Given the description of an element on the screen output the (x, y) to click on. 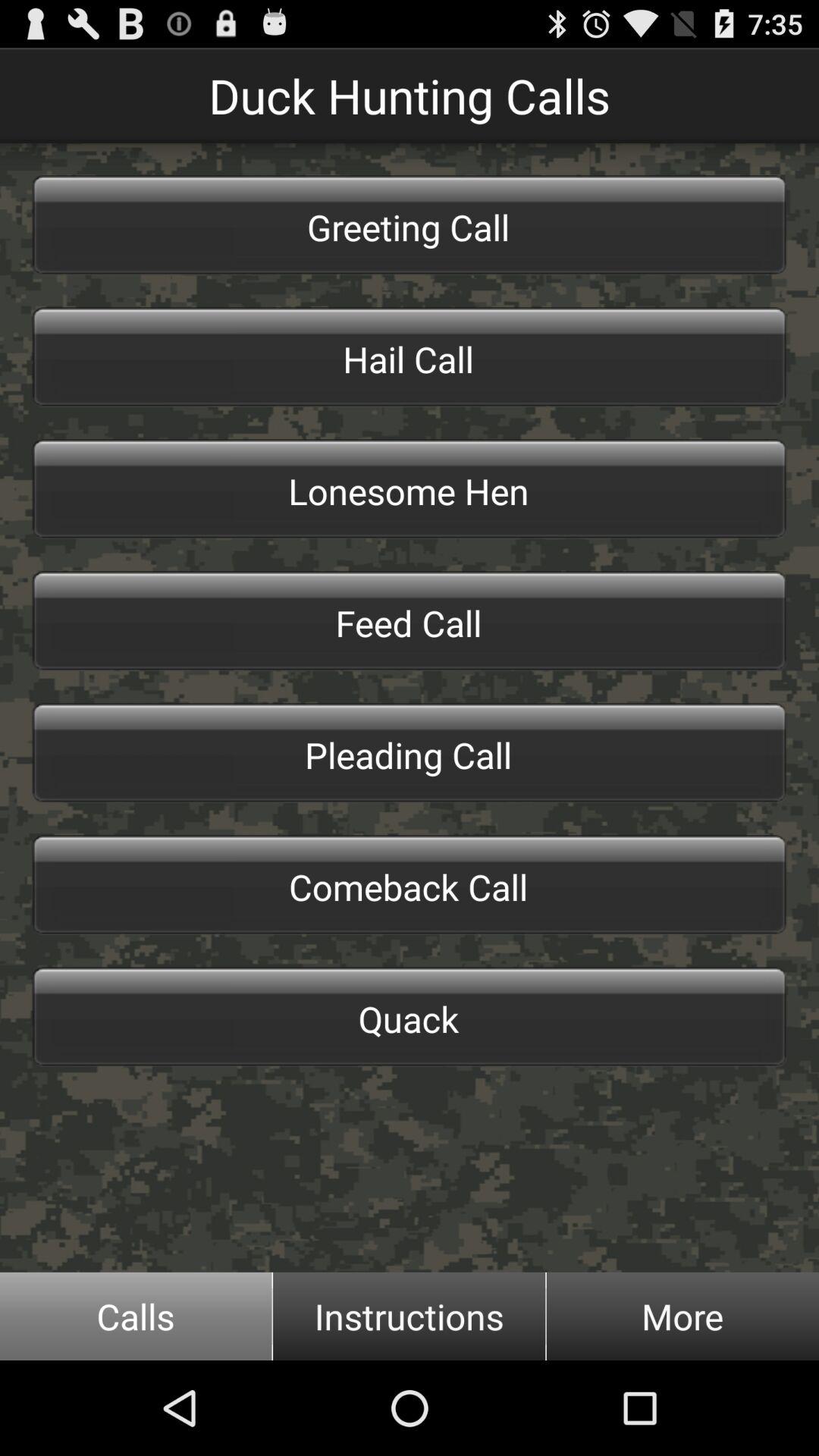
click the button below the pleading call item (409, 884)
